Given the description of an element on the screen output the (x, y) to click on. 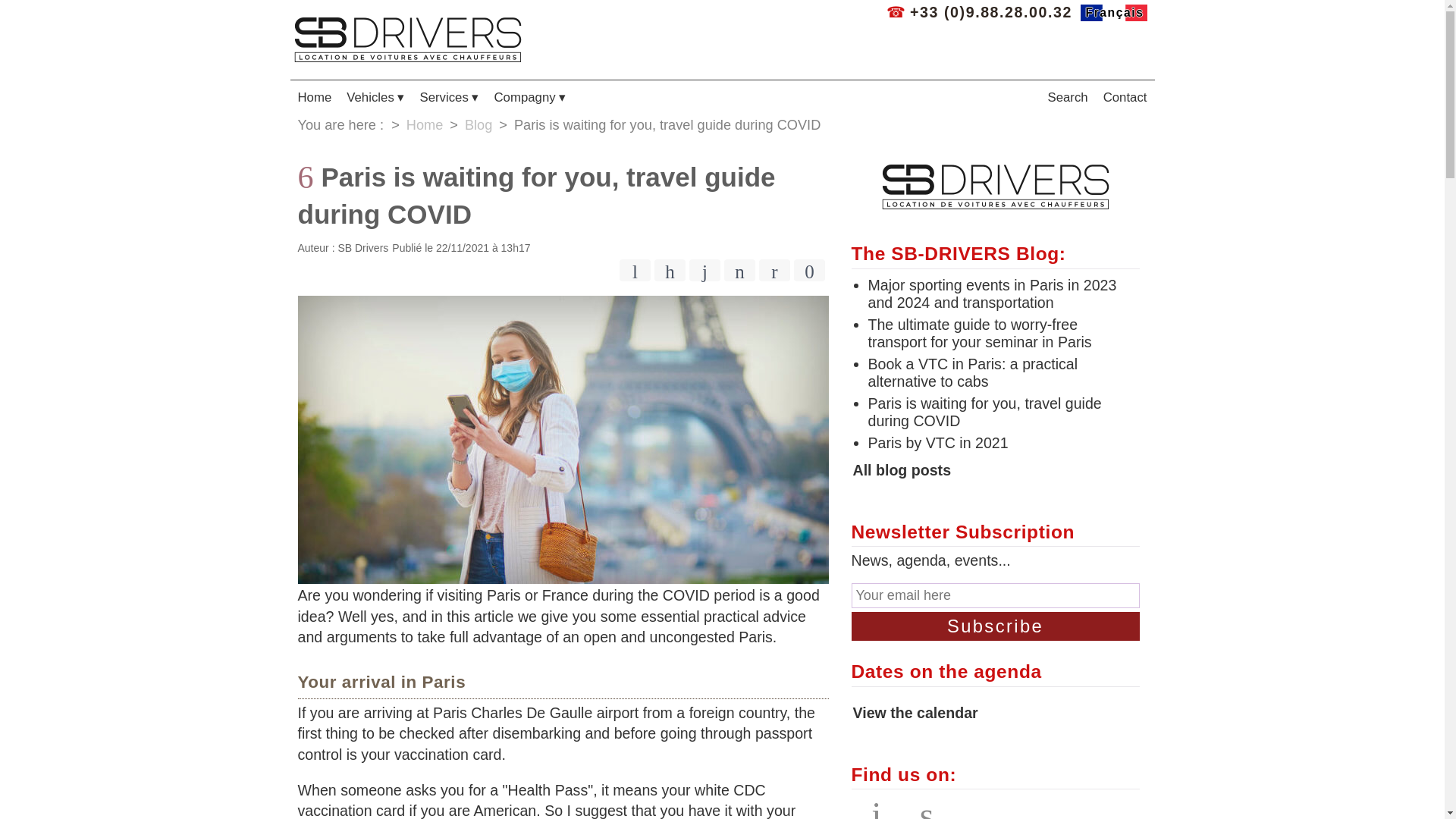
SB-DRIVERS - Car with driver - Paris (407, 40)
Search (1066, 97)
Back to Home (314, 97)
Contact (1125, 97)
Home (424, 124)
Blog (478, 124)
Vehicles (375, 97)
Search (1066, 97)
Compagny (529, 97)
Subscribe (994, 626)
